Given the description of an element on the screen output the (x, y) to click on. 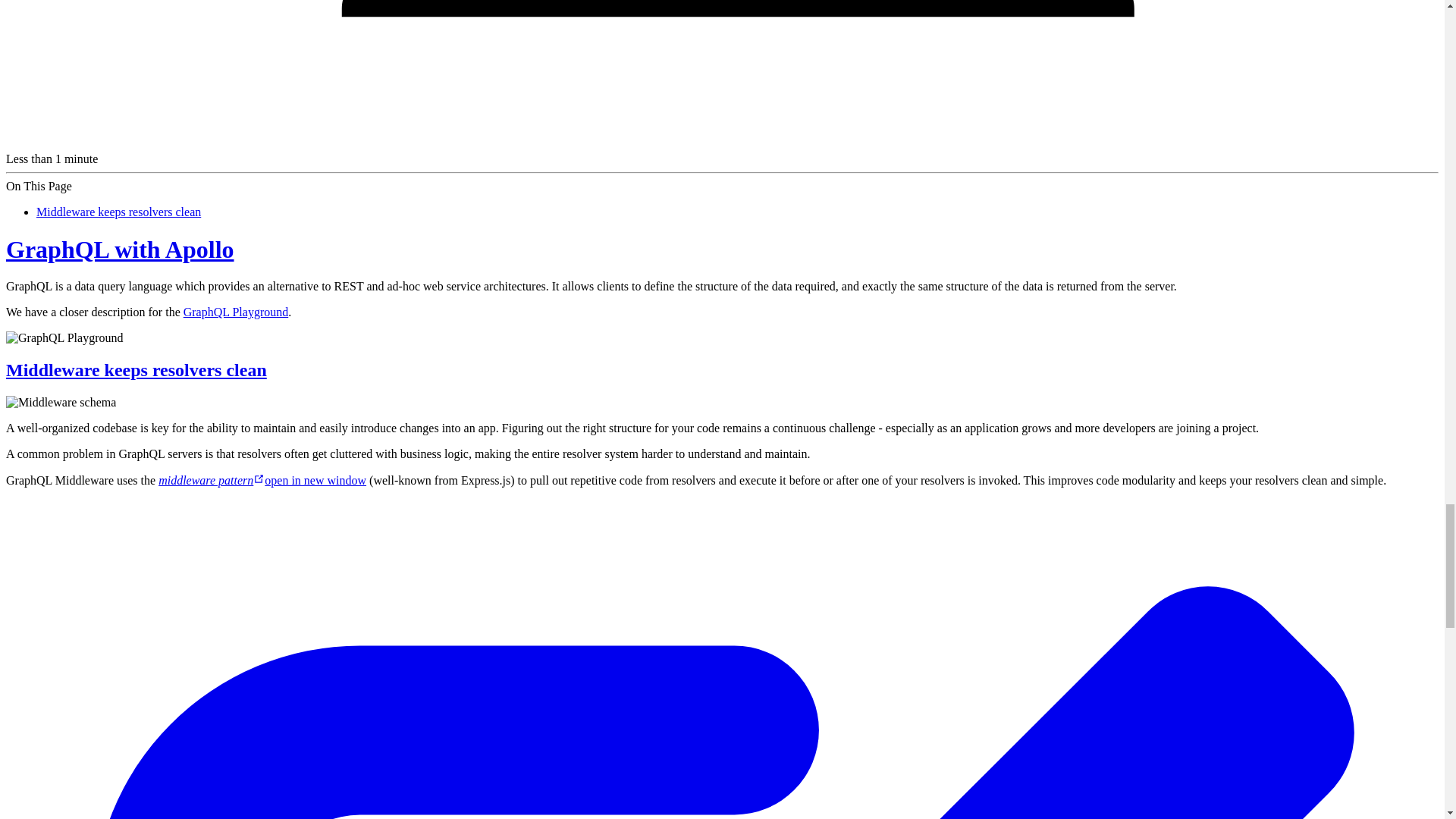
Middleware keeps resolvers clean (135, 370)
Middleware keeps resolvers clean (118, 211)
GraphQL with Apollo (119, 248)
middleware patternopen in new window (262, 480)
GraphQL Playground (235, 311)
